Given the description of an element on the screen output the (x, y) to click on. 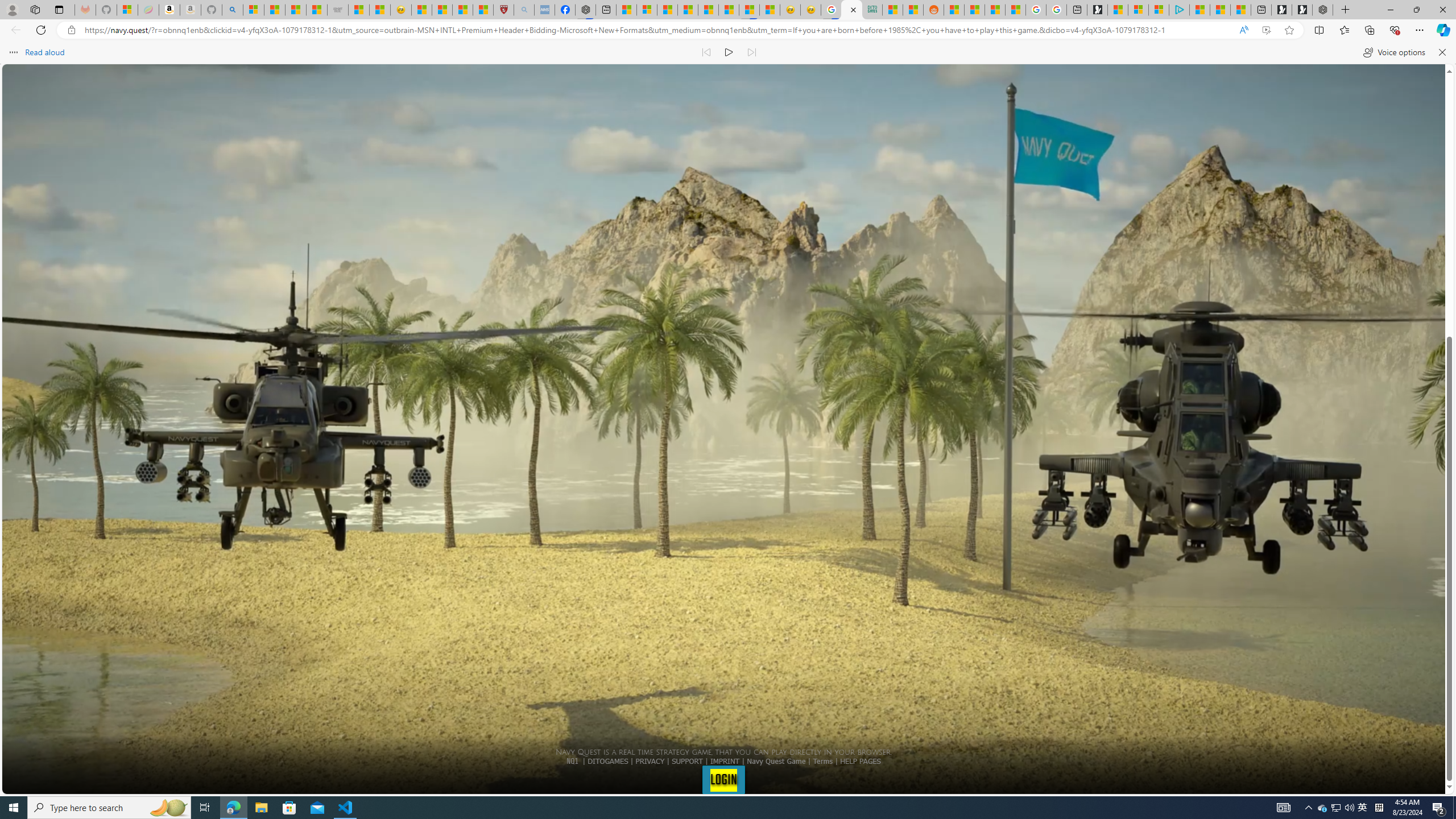
Terms (822, 760)
These 3 Stocks Pay You More Than 5% to Own Them (1240, 9)
Close read aloud (1441, 52)
